Given the description of an element on the screen output the (x, y) to click on. 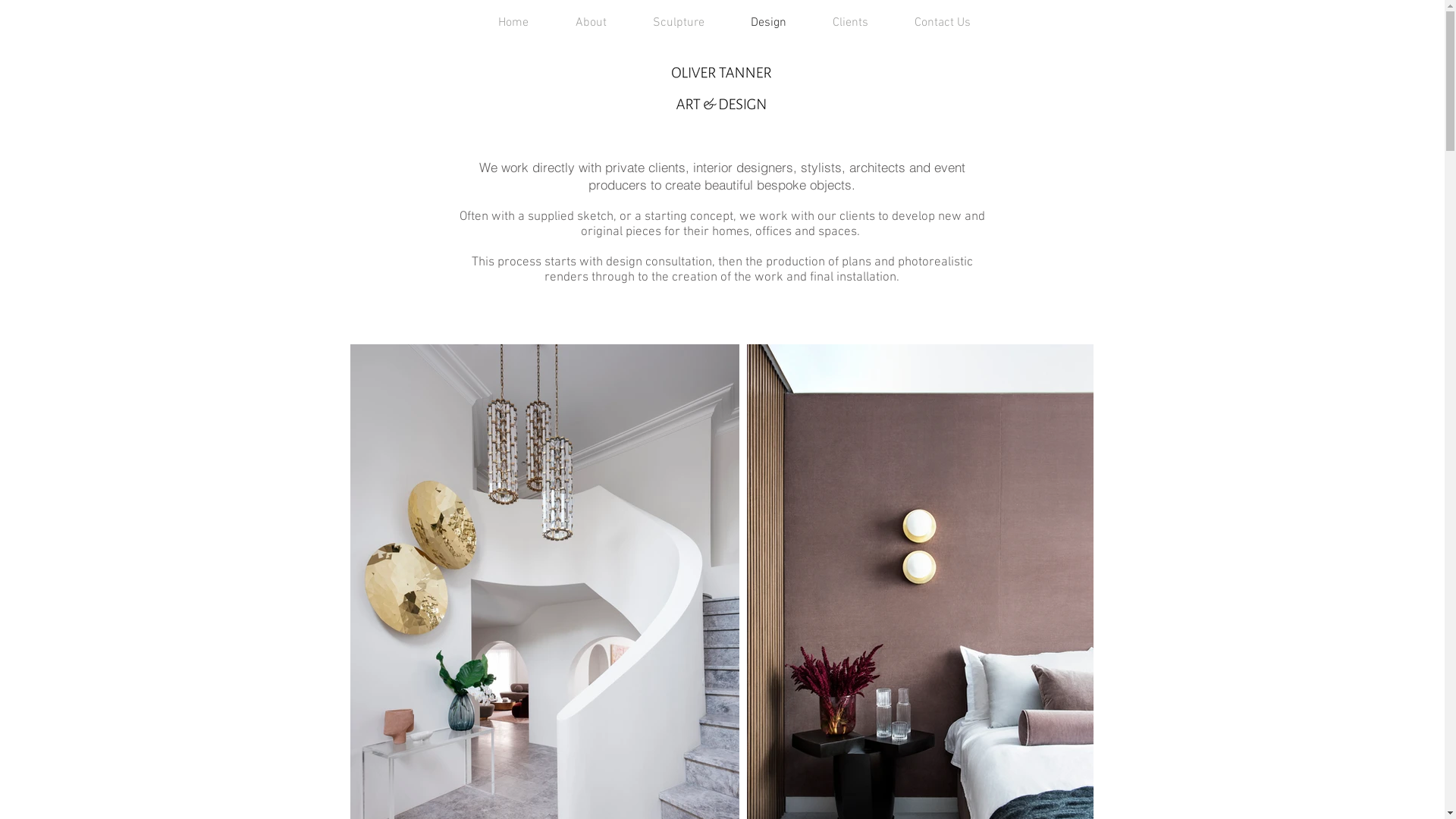
Clients Element type: text (838, 23)
About Element type: text (578, 23)
OTAD_web-01.png Element type: hover (720, 88)
Design Element type: text (756, 23)
Contact Us Element type: text (930, 23)
Home Element type: text (500, 23)
Sculpture Element type: text (666, 23)
